Given the description of an element on the screen output the (x, y) to click on. 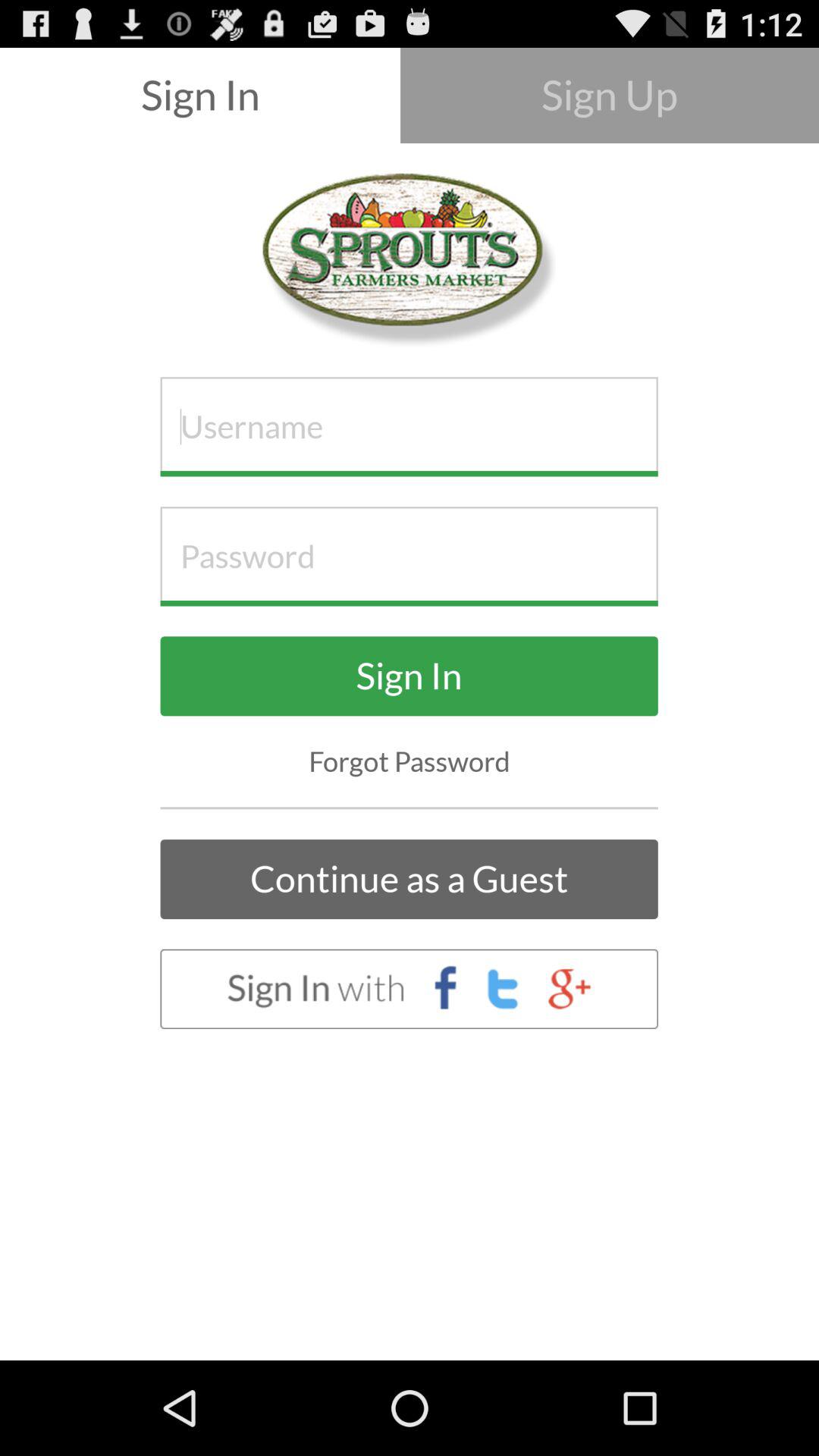
tap icon to the right of sign in (609, 95)
